Given the description of an element on the screen output the (x, y) to click on. 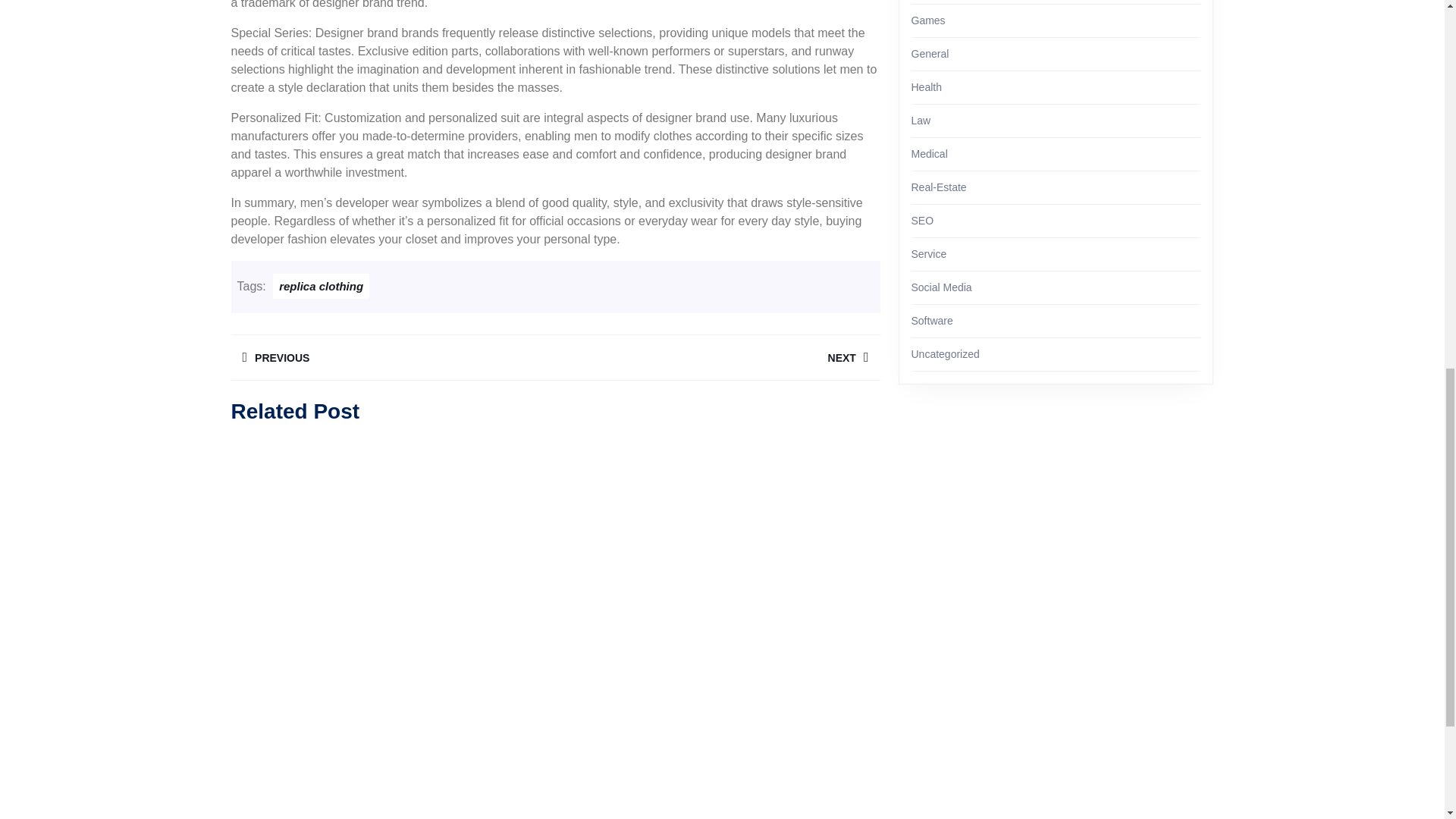
replica clothing (321, 285)
